Given the description of an element on the screen output the (x, y) to click on. 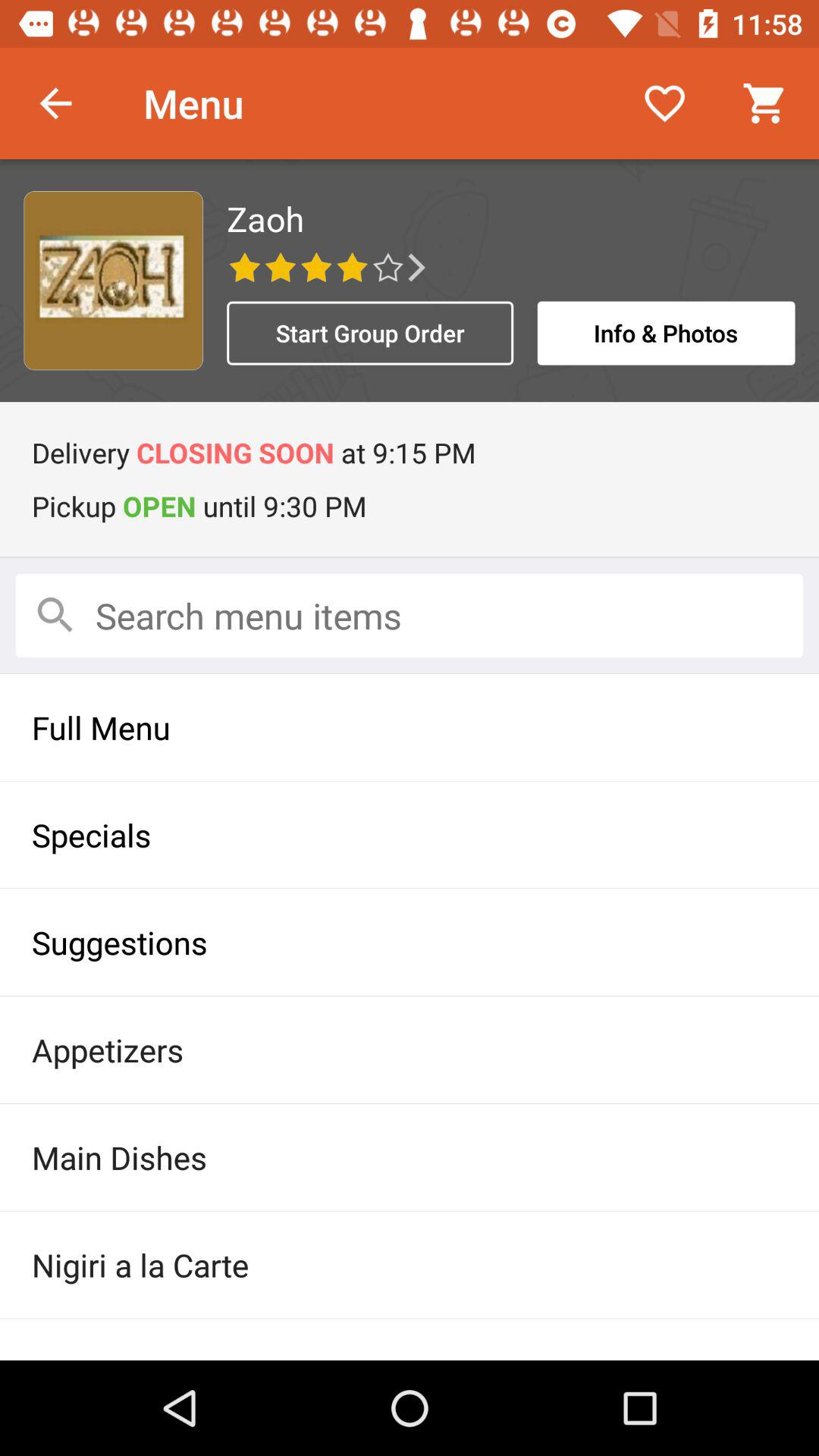
jump to specials (409, 834)
